Given the description of an element on the screen output the (x, y) to click on. 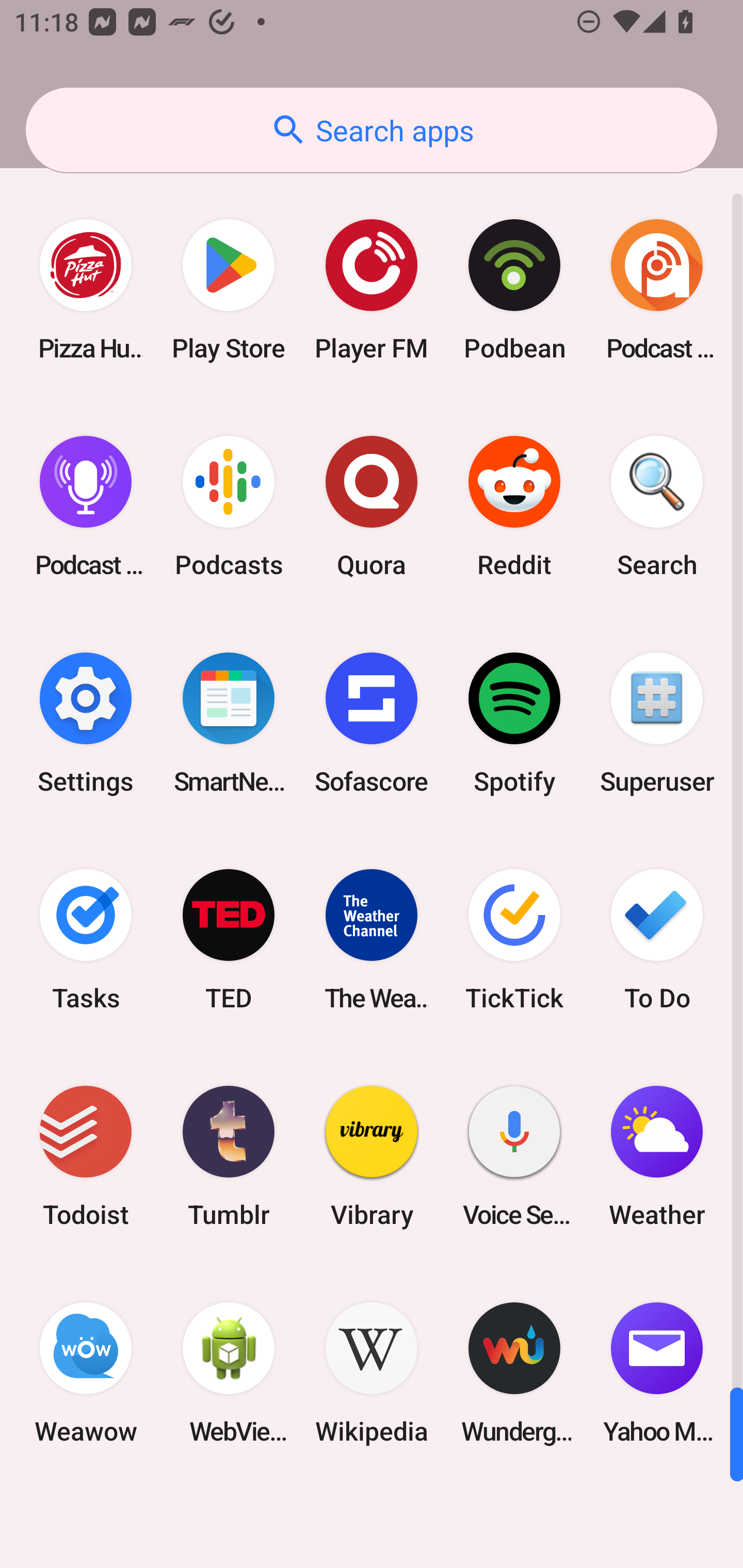
  Search apps (371, 130)
Pizza Hut HK & Macau (85, 289)
Play Store (228, 289)
Player FM (371, 289)
Podbean (514, 289)
Podcast Addict (656, 289)
Podcast Player (85, 506)
Podcasts (228, 506)
Quora (371, 506)
Reddit (514, 506)
Search (656, 506)
Settings (85, 722)
SmartNews (228, 722)
Sofascore (371, 722)
Spotify (514, 722)
Superuser (656, 722)
Tasks (85, 939)
TED (228, 939)
The Weather Channel (371, 939)
TickTick (514, 939)
To Do (656, 939)
Todoist (85, 1156)
Tumblr (228, 1156)
Vibrary (371, 1156)
Voice Search (514, 1156)
Weather (656, 1156)
Weawow (85, 1373)
WebView Browser Tester (228, 1373)
Wikipedia (371, 1373)
Wunderground (514, 1373)
Yahoo Mail (656, 1373)
